Given the description of an element on the screen output the (x, y) to click on. 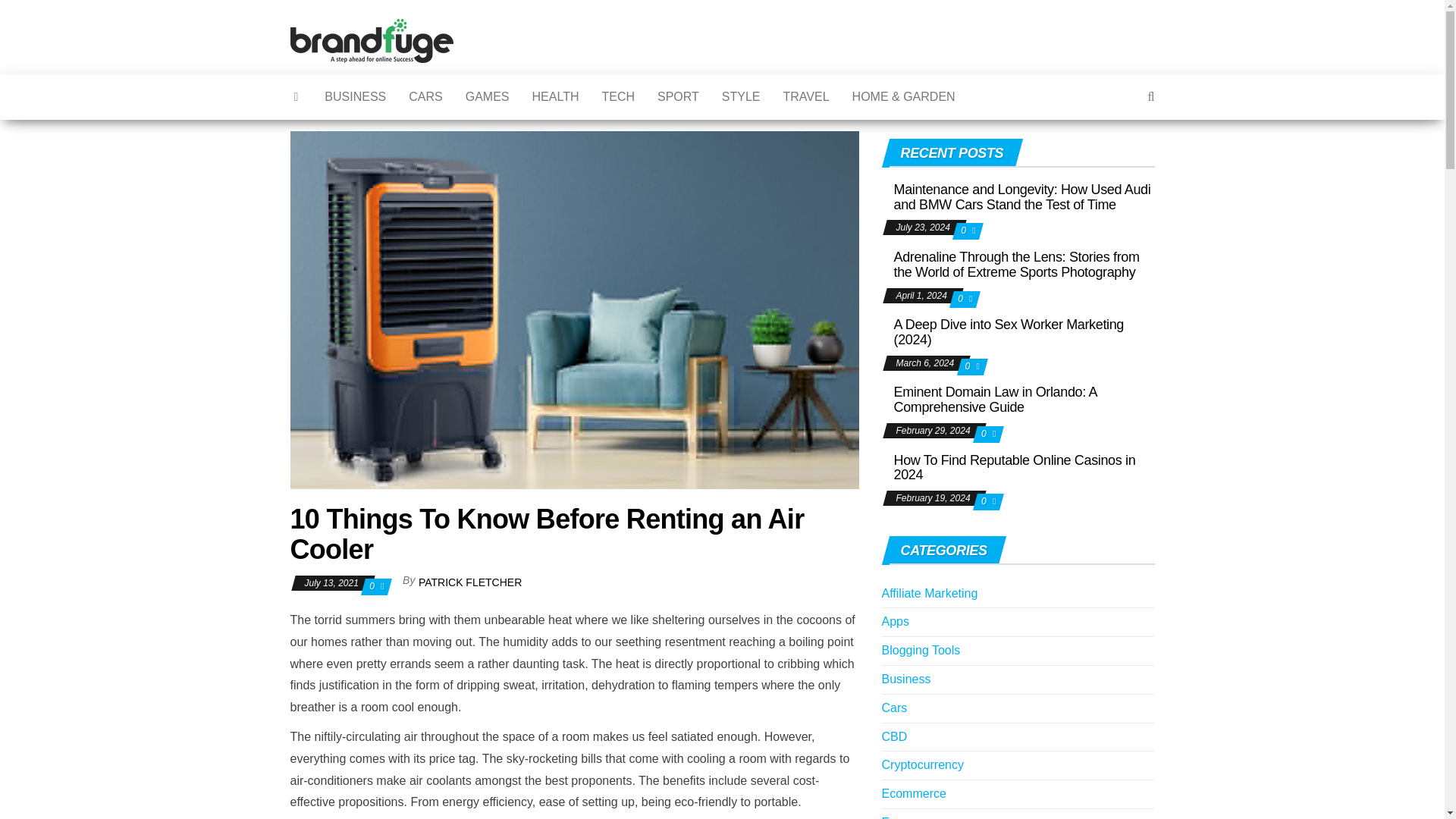
Style (740, 96)
BUSINESS (355, 96)
Sport (678, 96)
SPORT (678, 96)
Games (487, 96)
TRAVEL (806, 96)
Health (556, 96)
GAMES (487, 96)
BrandFuge (495, 43)
Tech (617, 96)
PATRICK FLETCHER (470, 582)
HEALTH (556, 96)
Travel (806, 96)
CARS (424, 96)
